Given the description of an element on the screen output the (x, y) to click on. 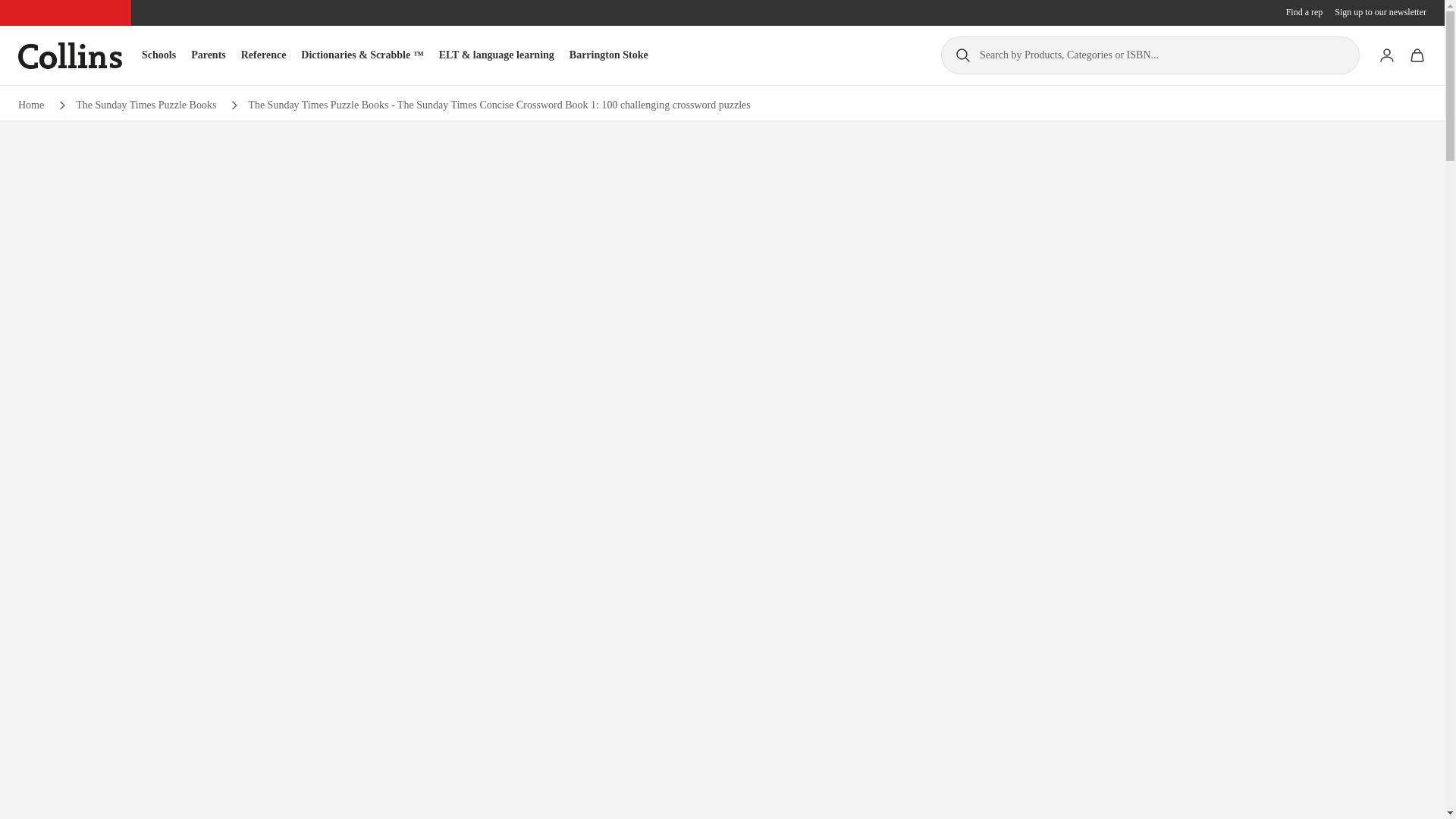
Sign up to our newsletter (1380, 11)
Read all about The Sunday Times Puzzle Books (145, 105)
Home (30, 105)
Collins (69, 55)
Schools (158, 55)
Barrington Stoke (608, 55)
Toggle cart (1417, 55)
The Sunday Times Puzzle Books (145, 105)
Find a rep (1304, 11)
